Given the description of an element on the screen output the (x, y) to click on. 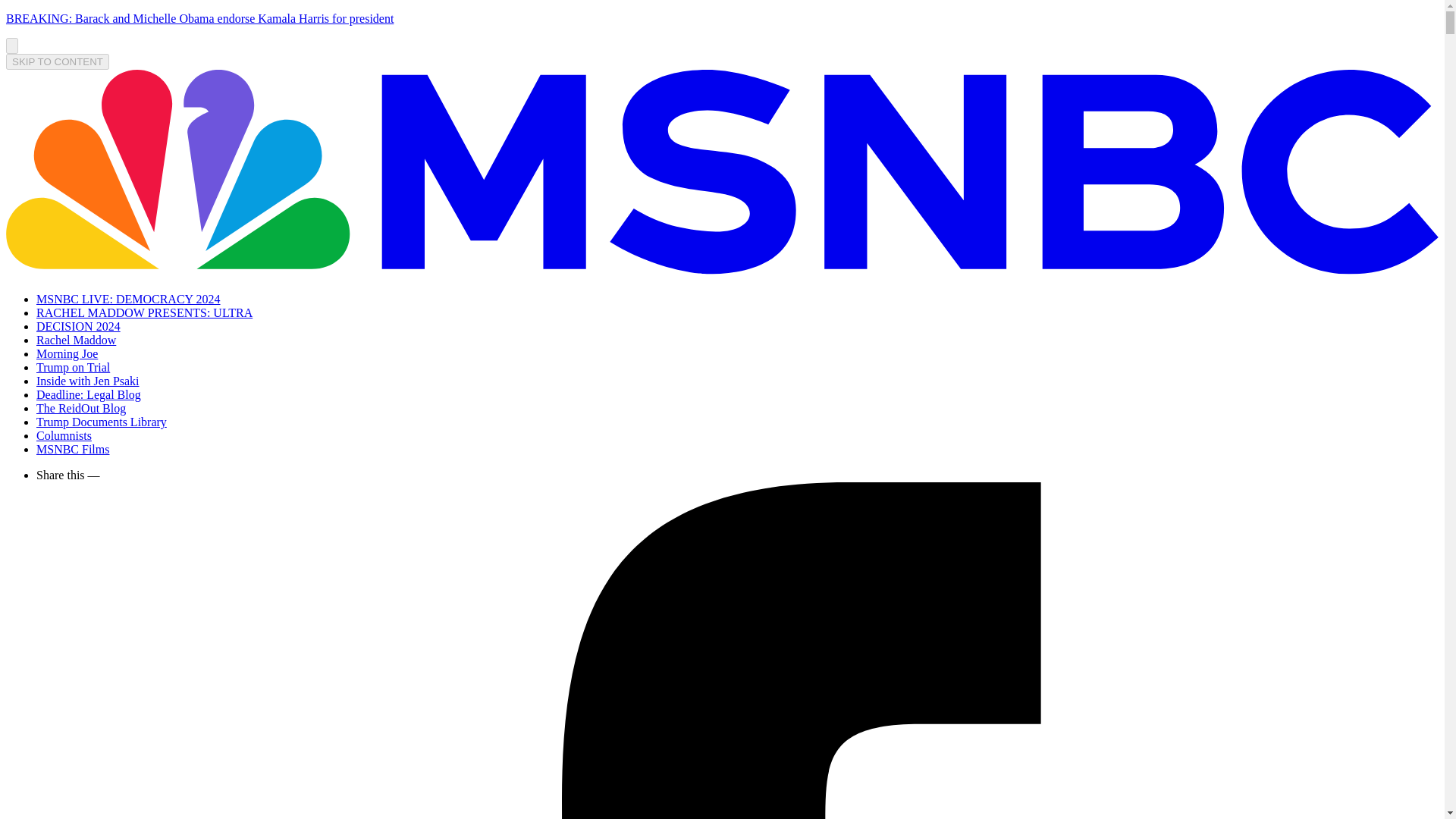
MSNBC Films (72, 449)
Rachel Maddow (76, 339)
Trump Documents Library (101, 421)
DECISION 2024 (78, 326)
The ReidOut Blog (80, 408)
Inside with Jen Psaki (87, 380)
SKIP TO CONTENT (57, 61)
Morning Joe (66, 353)
Columnists (63, 435)
Trump on Trial (73, 367)
MSNBC LIVE: DEMOCRACY 2024 (128, 298)
Deadline: Legal Blog (88, 394)
RACHEL MADDOW PRESENTS: ULTRA (143, 312)
